Given the description of an element on the screen output the (x, y) to click on. 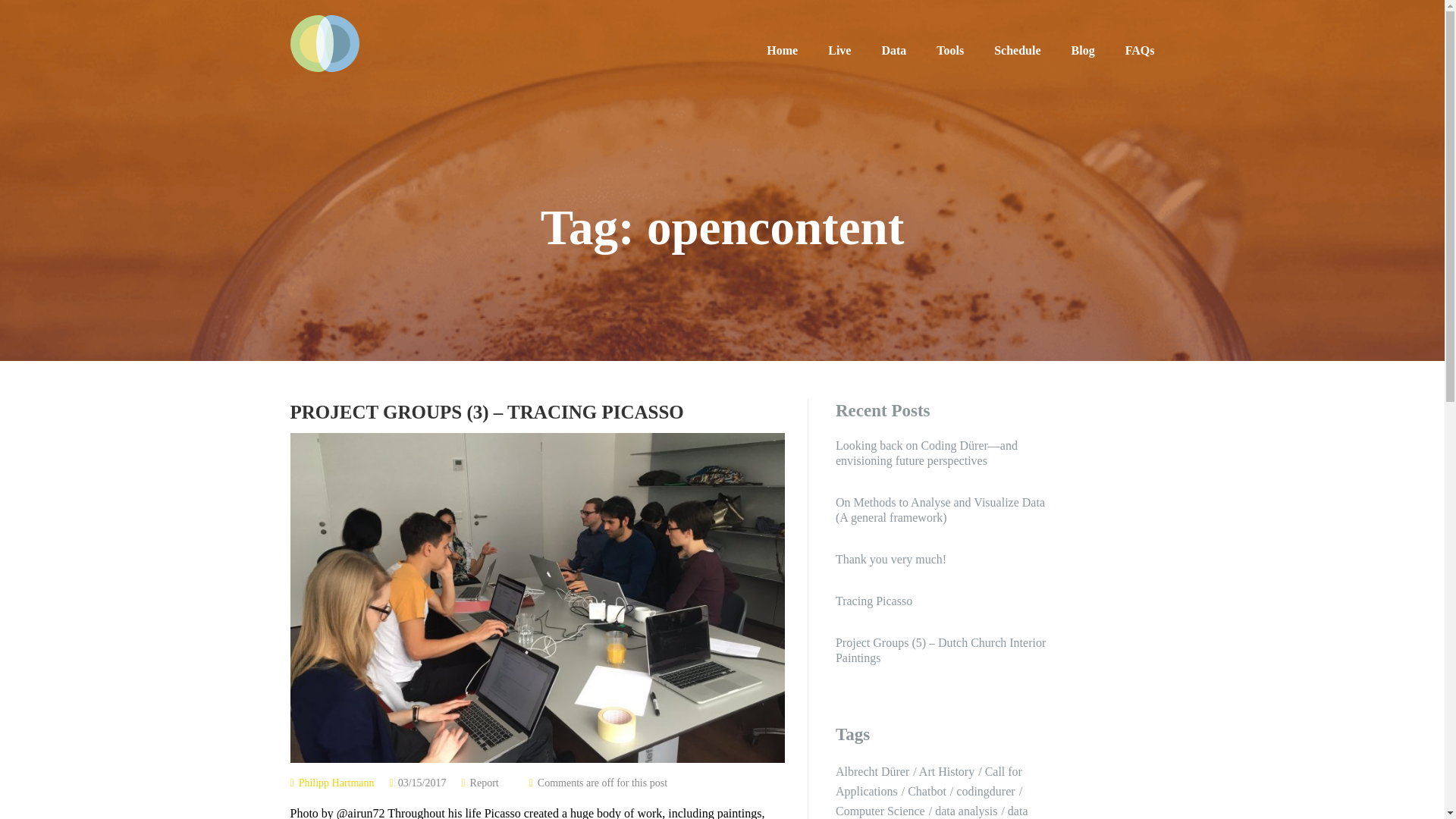
Call for Applications (928, 780)
Home (782, 50)
Live (839, 50)
Chatbot (930, 790)
Data (892, 50)
Tools (949, 50)
Computer Science (883, 810)
Thank you very much! (943, 559)
FAQs (1139, 50)
Tracing Picasso (943, 601)
